Given the description of an element on the screen output the (x, y) to click on. 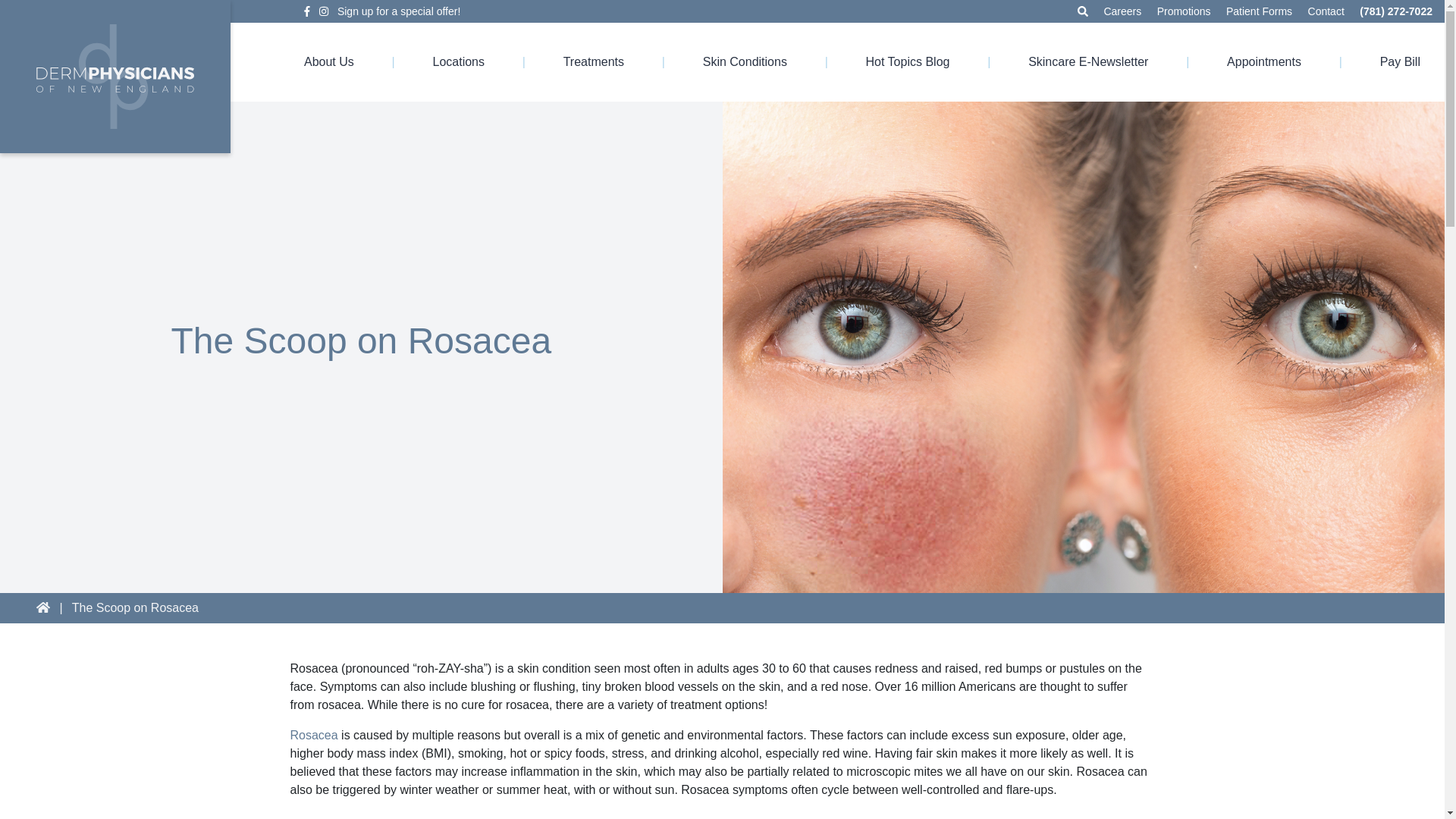
Locations (458, 61)
Promotions (1184, 10)
Treatments (593, 61)
About Us (328, 61)
Sign up for a special offer! (398, 11)
Patient Forms (1258, 10)
Contact (1325, 10)
Careers (1122, 10)
